Given the description of an element on the screen output the (x, y) to click on. 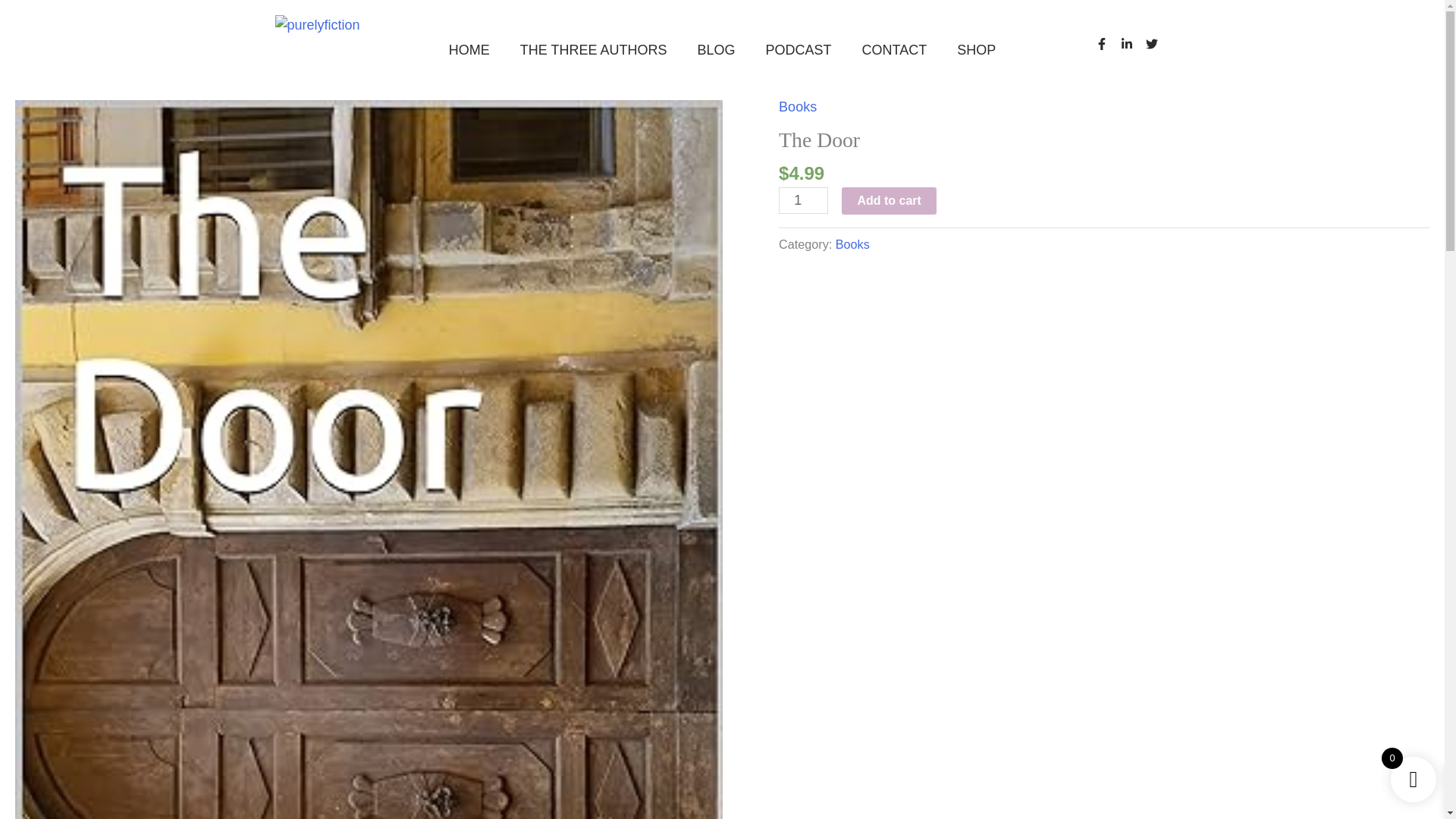
BLOG (715, 49)
THE THREE AUTHORS (593, 49)
Facebook-f (1106, 49)
HOME (469, 49)
SHOP (976, 49)
PODCAST (799, 49)
CONTACT (894, 49)
Linkedin-in (1132, 49)
1 (803, 200)
Twitter (1156, 49)
